Given the description of an element on the screen output the (x, y) to click on. 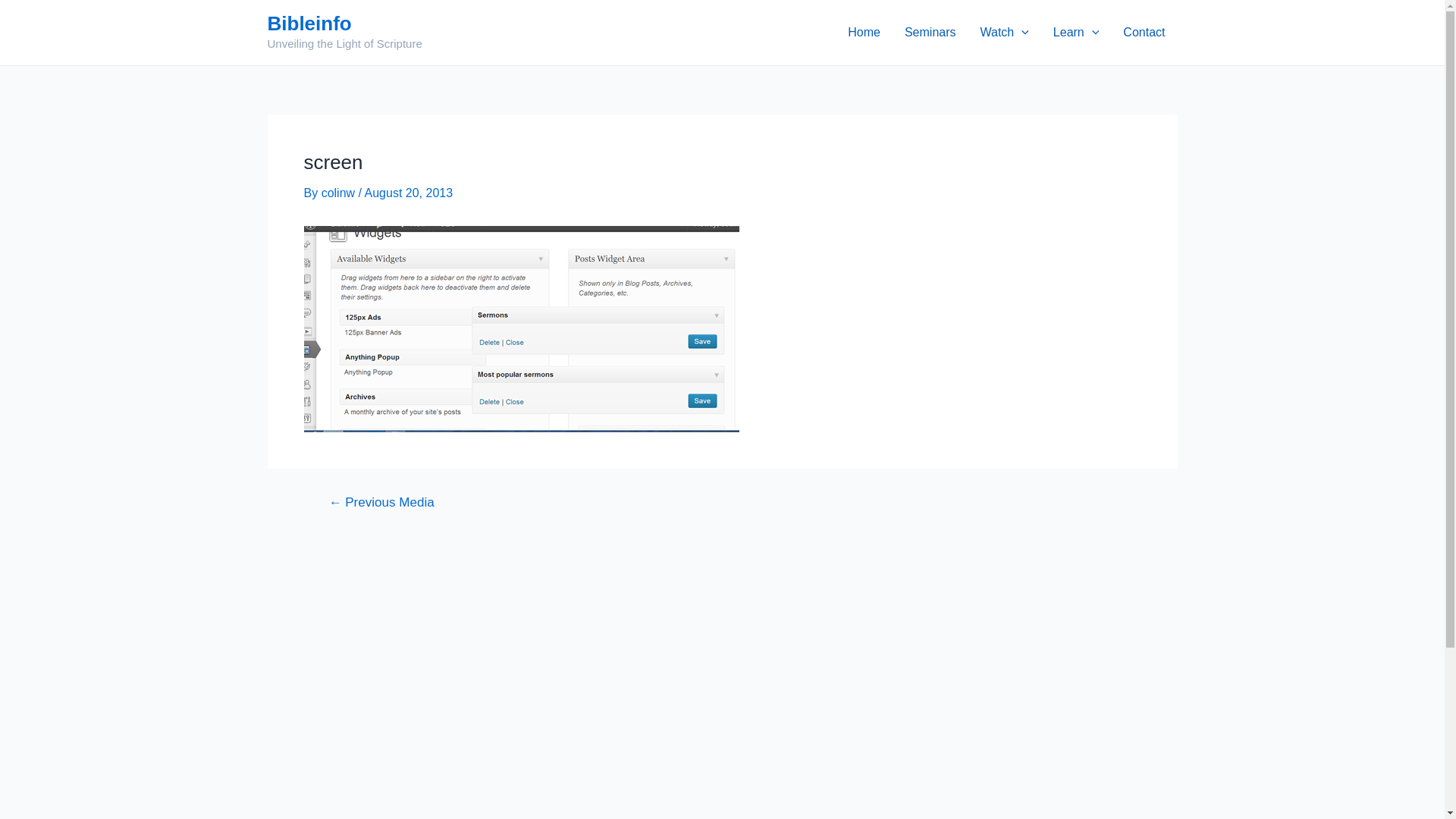
Seminars Element type: text (930, 32)
Google Map for  Element type: hover (721, 689)
Bibleinfo Element type: text (308, 23)
Learn Element type: text (1076, 32)
Home Element type: text (863, 32)
colinw Element type: text (339, 192)
Watch Element type: text (1003, 32)
Contact Element type: text (1143, 32)
